Given the description of an element on the screen output the (x, y) to click on. 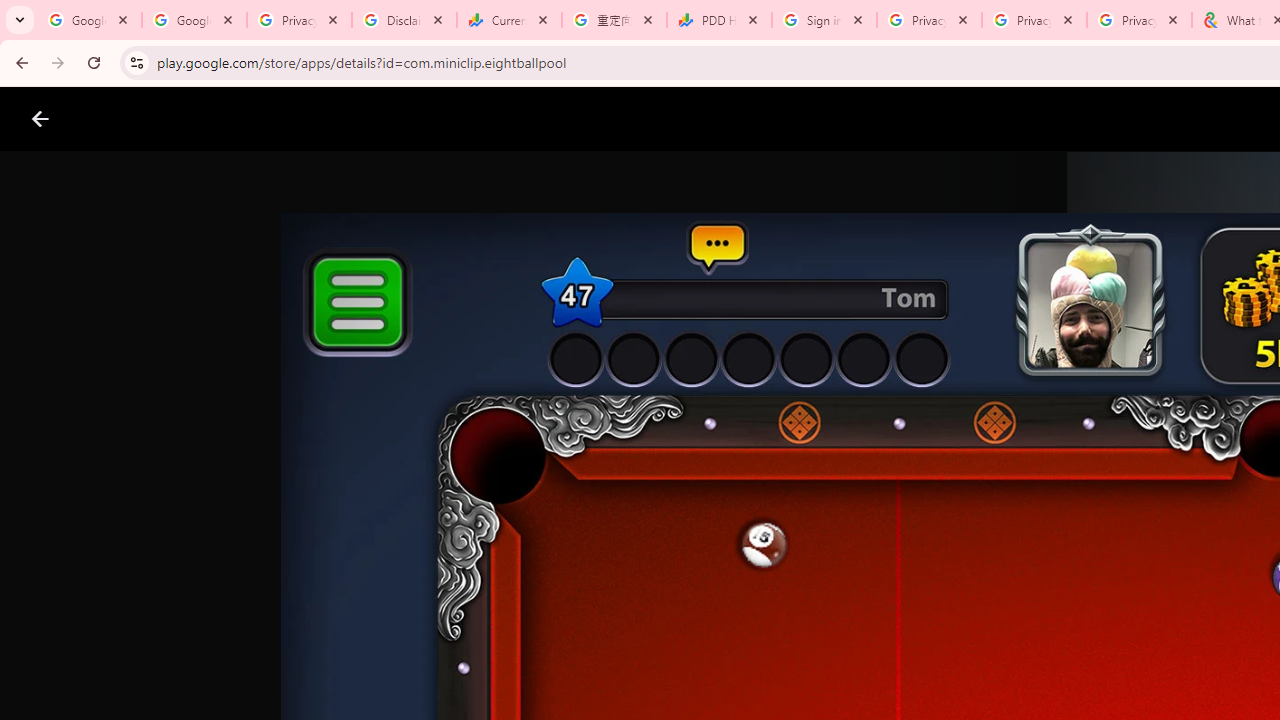
Privacy Checkup (1033, 20)
Miniclip.com (680, 586)
Content rating (973, 656)
Privacy Checkup (1138, 20)
Currencies - Google Finance (509, 20)
Games (248, 119)
